Given the description of an element on the screen output the (x, y) to click on. 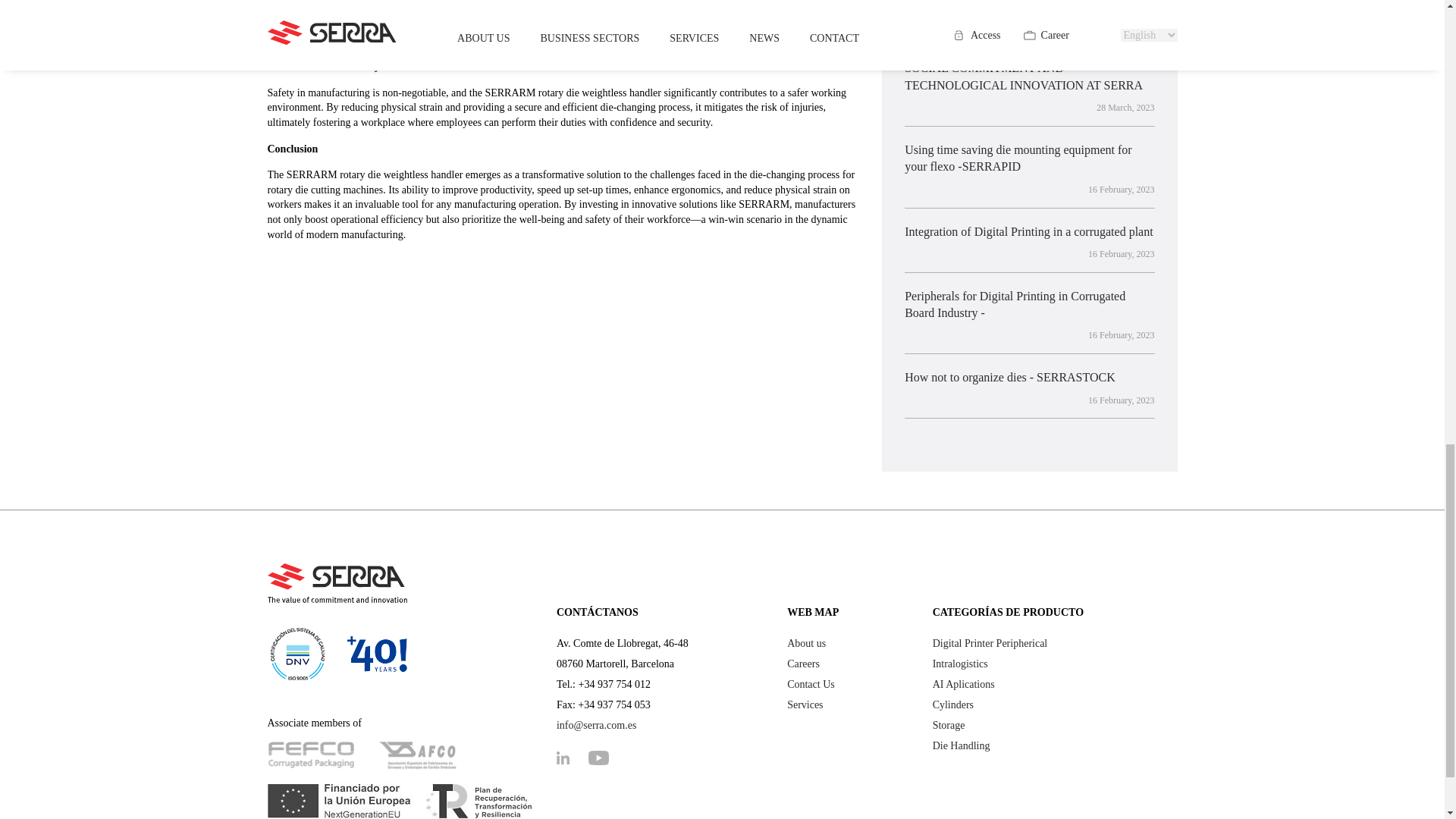
logo serra footer (336, 583)
youtube link (606, 757)
associates serra (364, 754)
iso 40 anys serra (336, 654)
linkedin link (570, 757)
